Given the description of an element on the screen output the (x, y) to click on. 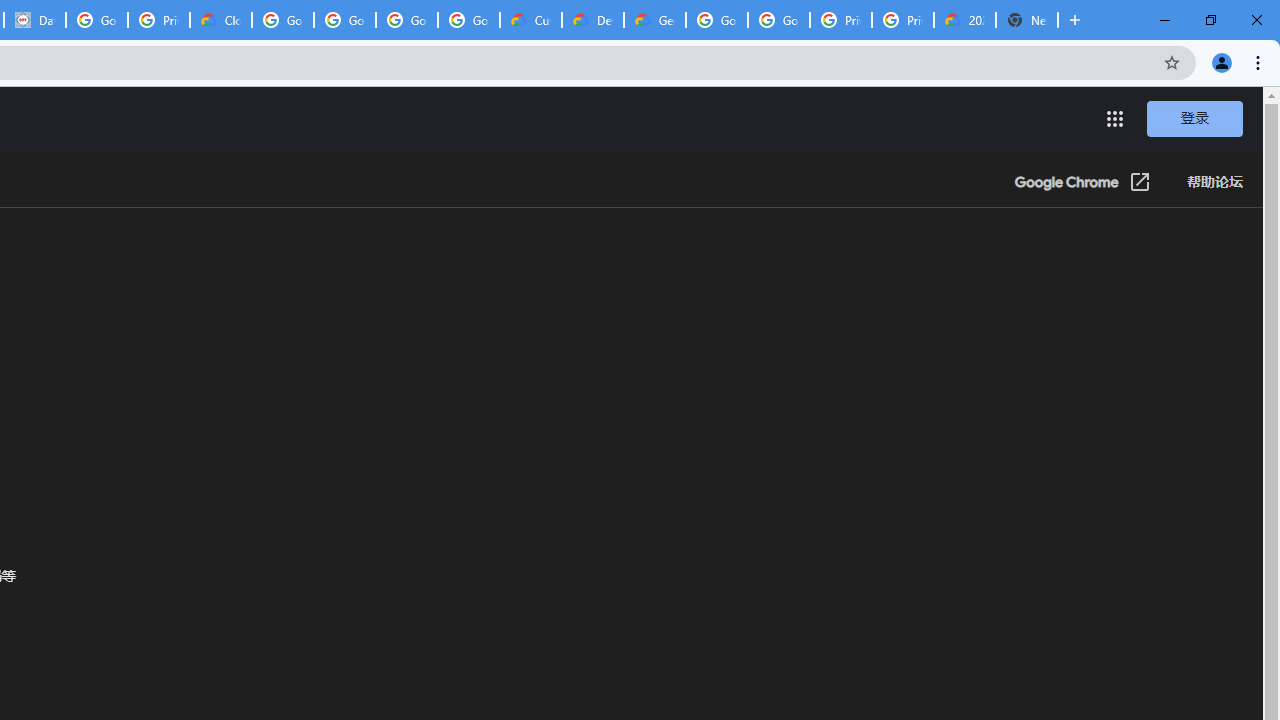
Google Cloud Platform (716, 20)
Google Cloud Platform (778, 20)
Gemini for Business and Developers | Google Cloud (654, 20)
Google Workspace - Specific Terms (406, 20)
